Given the description of an element on the screen output the (x, y) to click on. 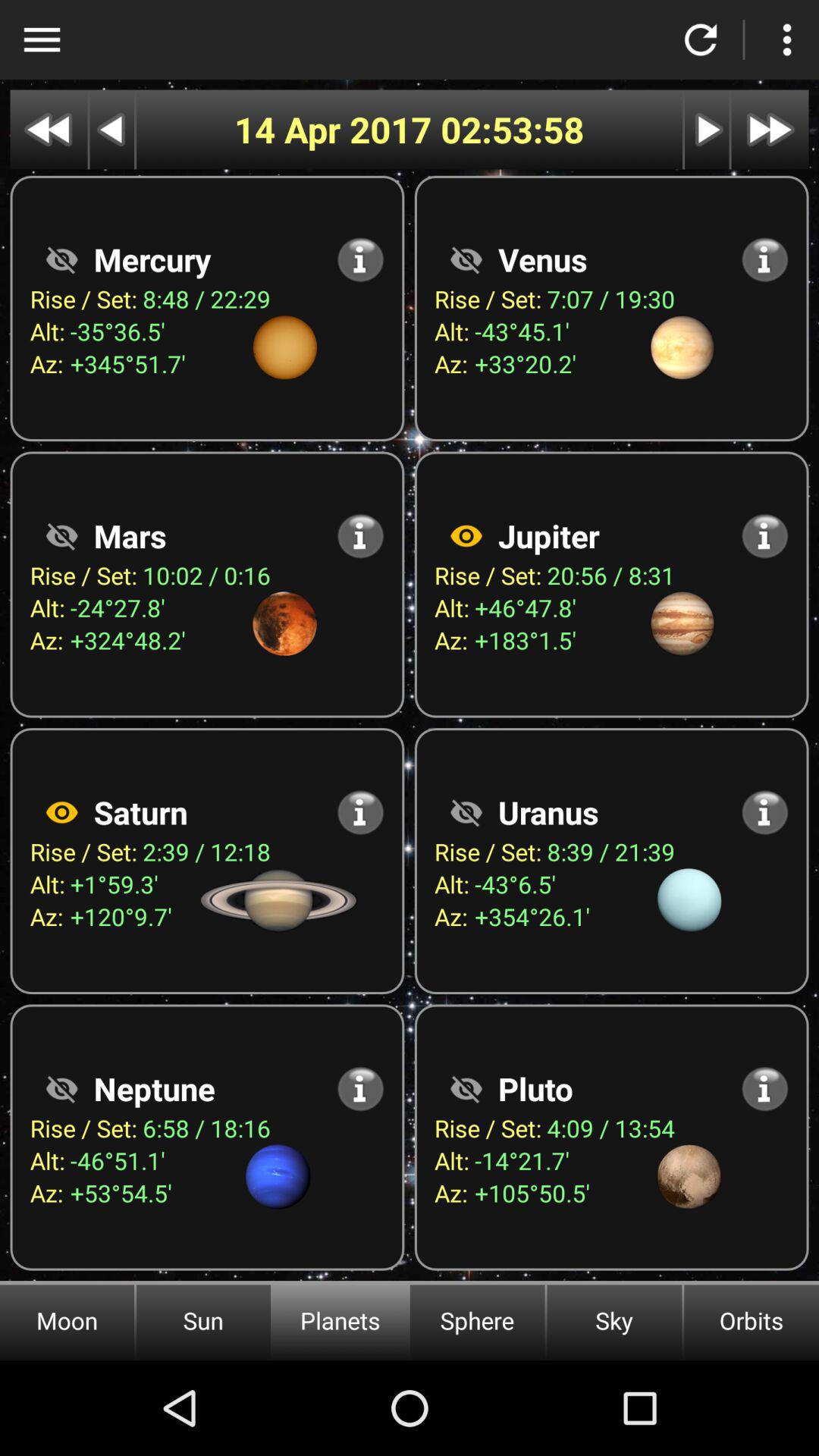
select jupiter (466, 536)
